Given the description of an element on the screen output the (x, y) to click on. 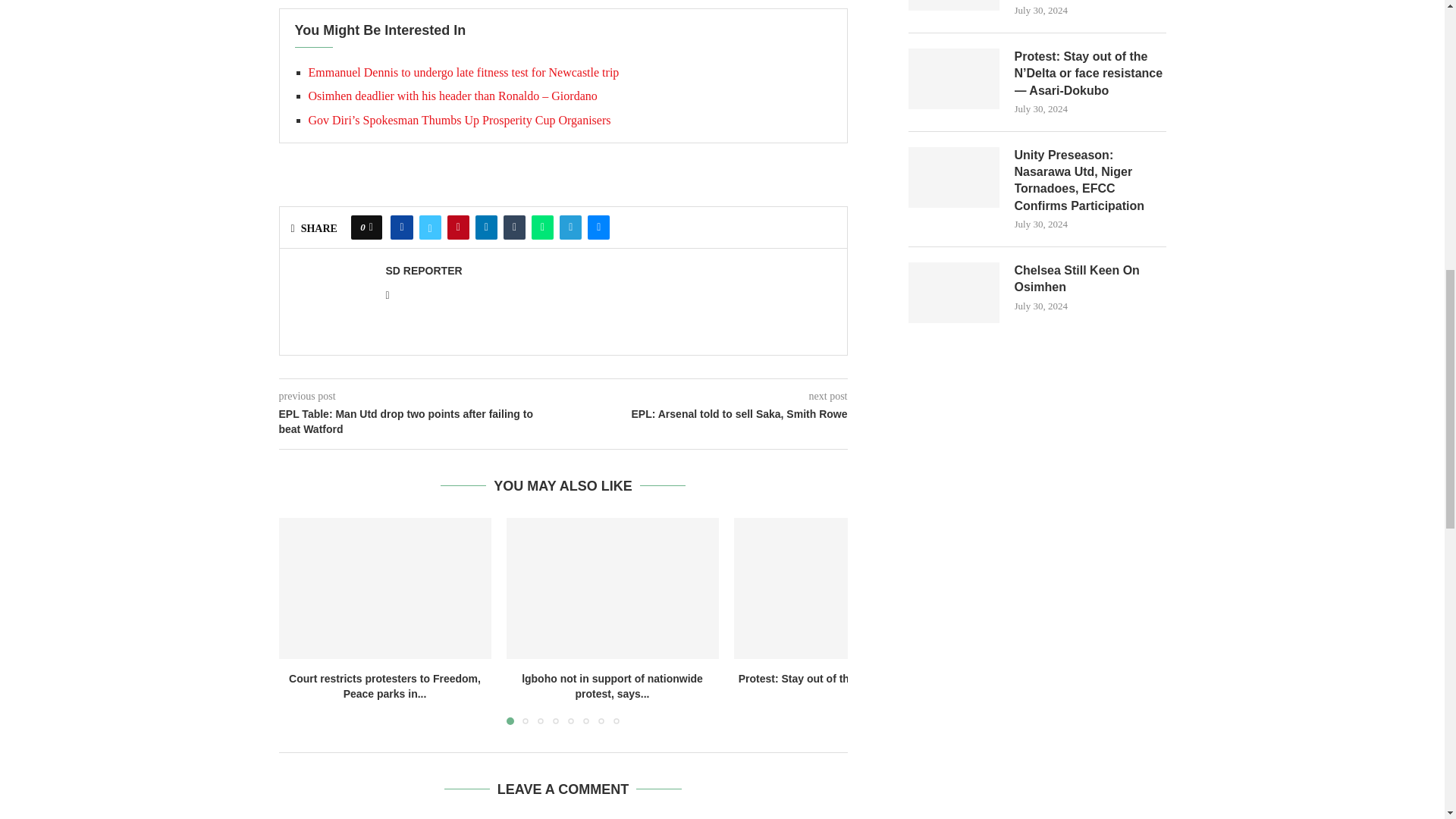
Court restricts protesters to Freedom, Peace parks in Lagos (385, 588)
Author SD Reporter (423, 270)
